Given the description of an element on the screen output the (x, y) to click on. 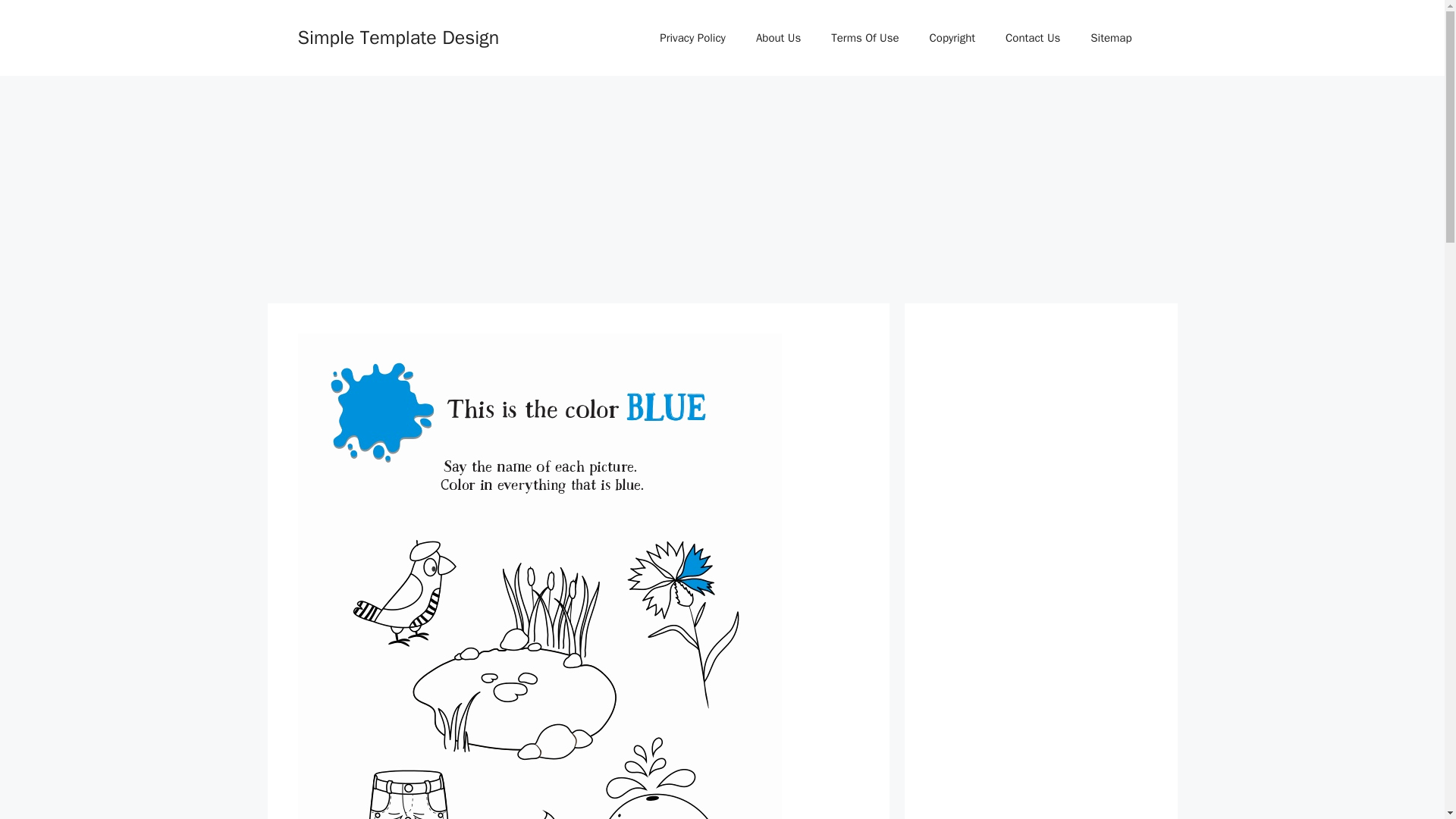
Contact Us (1032, 37)
Sitemap (1111, 37)
About Us (778, 37)
Privacy Policy (693, 37)
Terms Of Use (864, 37)
Copyright (952, 37)
Simple Template Design (398, 37)
